Given the description of an element on the screen output the (x, y) to click on. 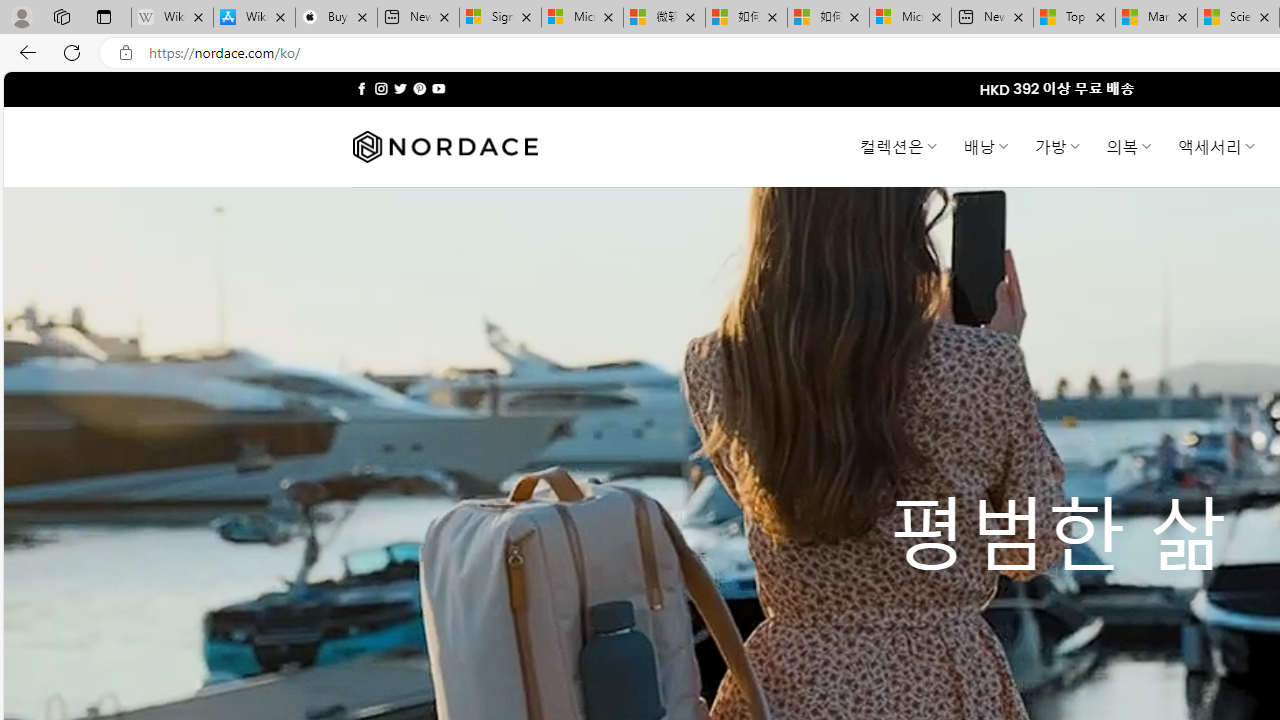
Nordace (444, 147)
Microsoft account | Account Checkup (910, 17)
Sign in to your Microsoft account (500, 17)
Follow on Pinterest (419, 88)
Workspaces (61, 16)
Personal Profile (21, 16)
Follow on Facebook (361, 88)
New tab (992, 17)
Buy iPad - Apple (336, 17)
